Given the description of an element on the screen output the (x, y) to click on. 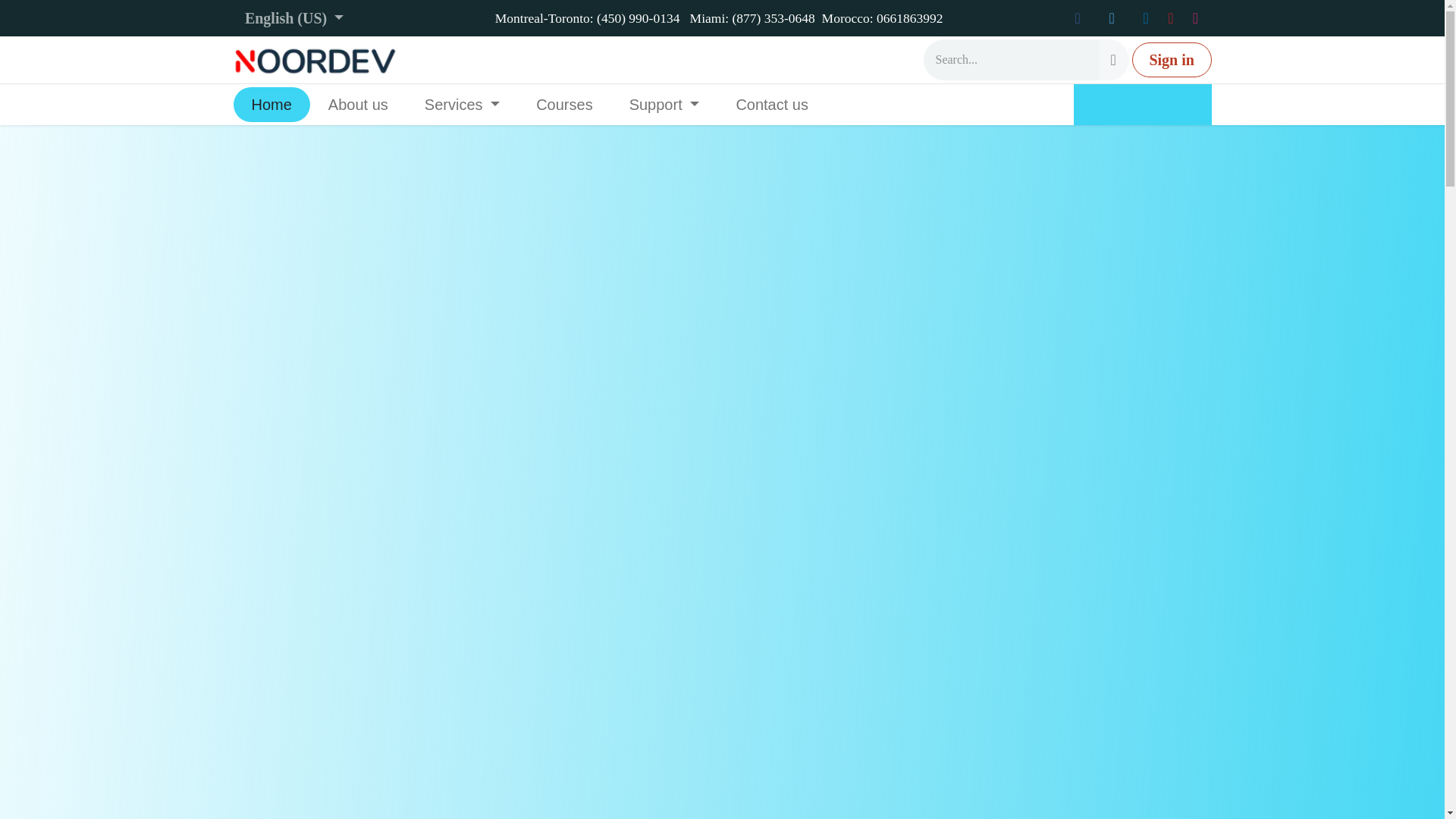
Noordev (316, 59)
About us (358, 104)
Home (271, 104)
Support (664, 104)
Sign in (1171, 59)
Contact us (772, 104)
Courses (564, 104)
Services (462, 104)
